Given the description of an element on the screen output the (x, y) to click on. 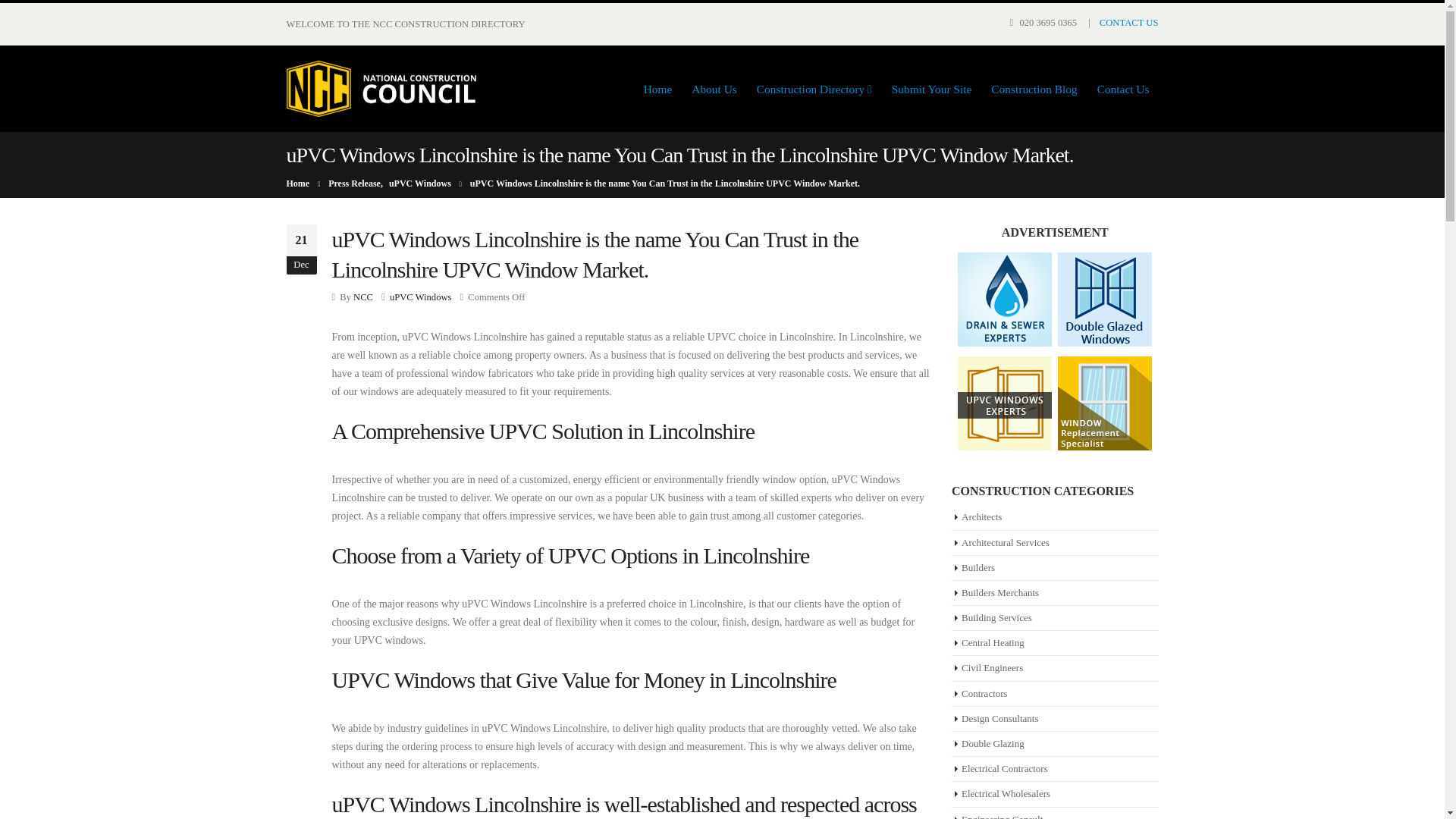
About Us (713, 89)
Construction Directory (814, 89)
Home (657, 89)
NCC -  (381, 88)
Submit Your Site (931, 89)
Posts by NCC (362, 296)
CONTACT US (1128, 22)
Construction Blog (1033, 89)
